Given the description of an element on the screen output the (x, y) to click on. 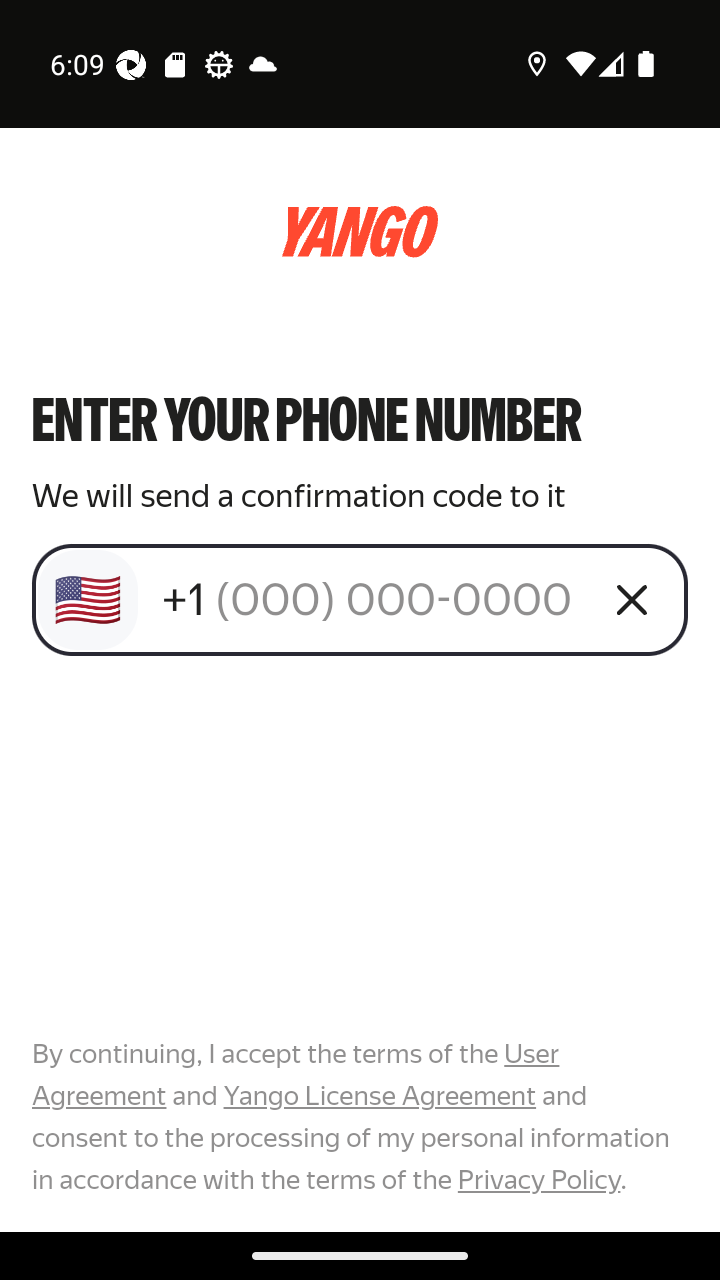
logo (359, 231)
🇺🇸 (88, 600)
+1 (372, 599)
User Agreement (295, 1075)
Yango License Agreement (379, 1096)
Privacy Policy (538, 1179)
